Given the description of an element on the screen output the (x, y) to click on. 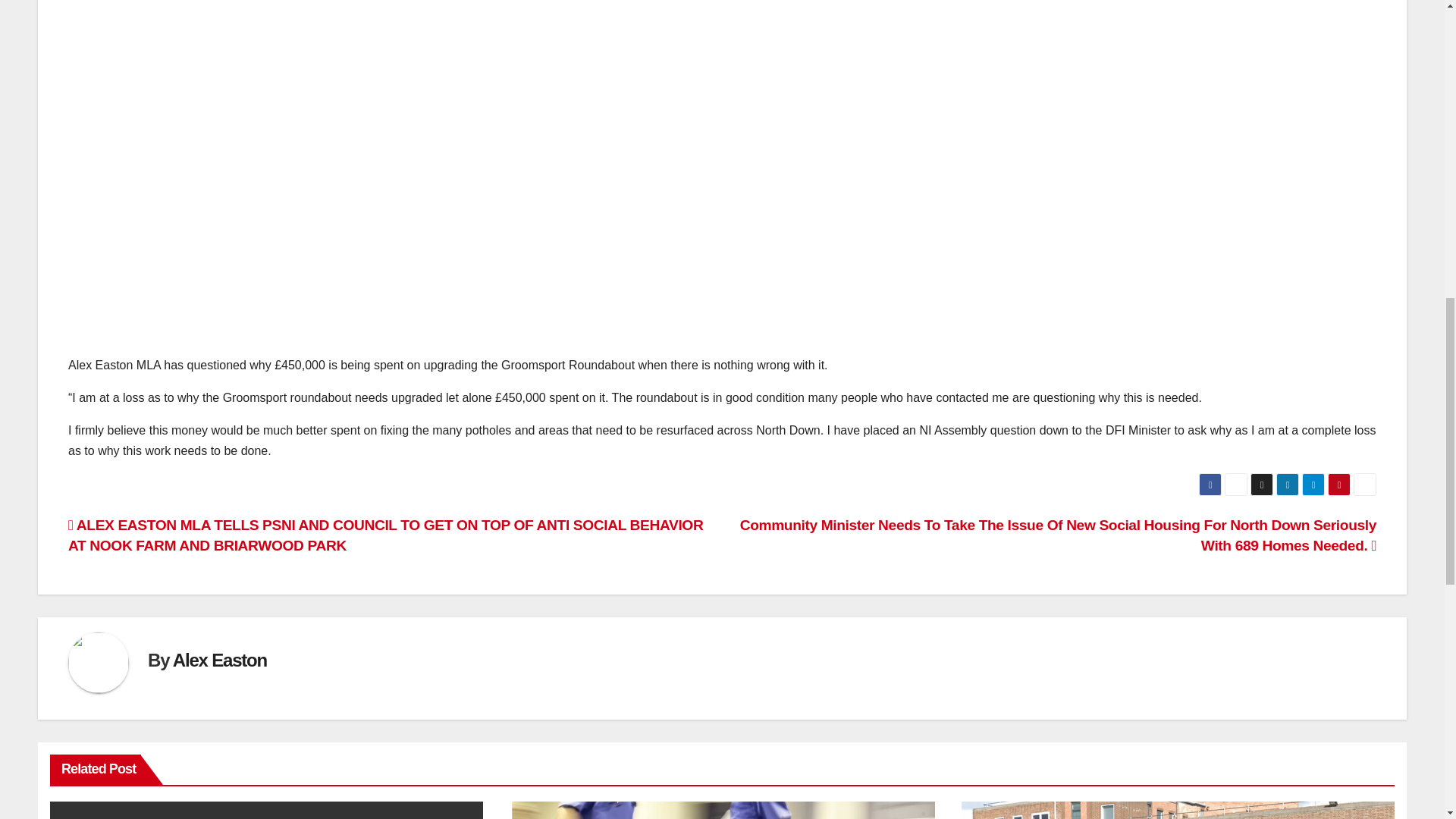
Alex Easton (219, 660)
